Given the description of an element on the screen output the (x, y) to click on. 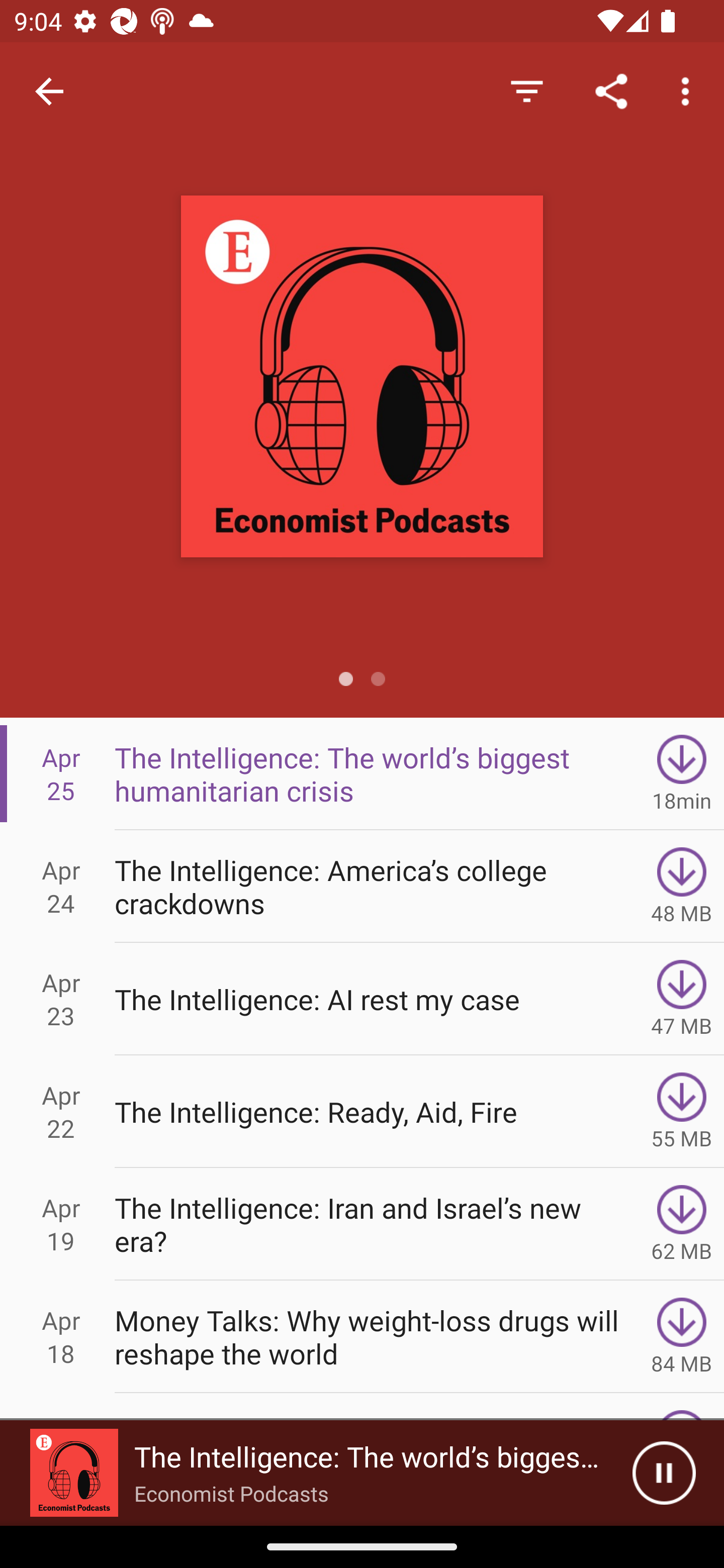
Navigate up (49, 91)
Hide Episodes (526, 90)
Share Link (611, 90)
More options (688, 90)
Download 18min (681, 773)
Download 48 MB (681, 885)
Download 47 MB (681, 998)
Download 55 MB (681, 1111)
Download 62 MB (681, 1224)
Download 84 MB (681, 1336)
Pause (663, 1472)
